Given the description of an element on the screen output the (x, y) to click on. 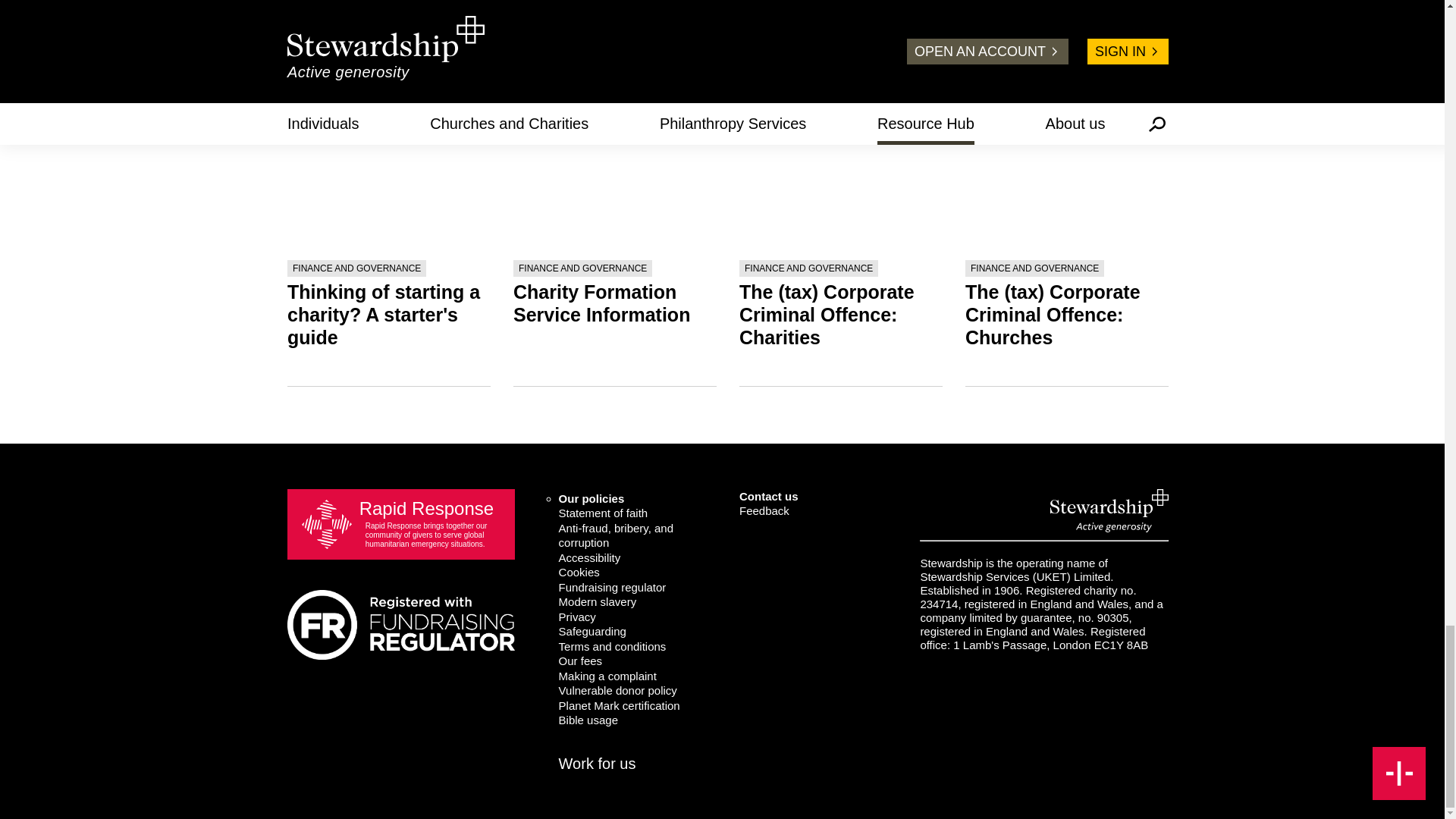
Bible Usage (637, 720)
